Given the description of an element on the screen output the (x, y) to click on. 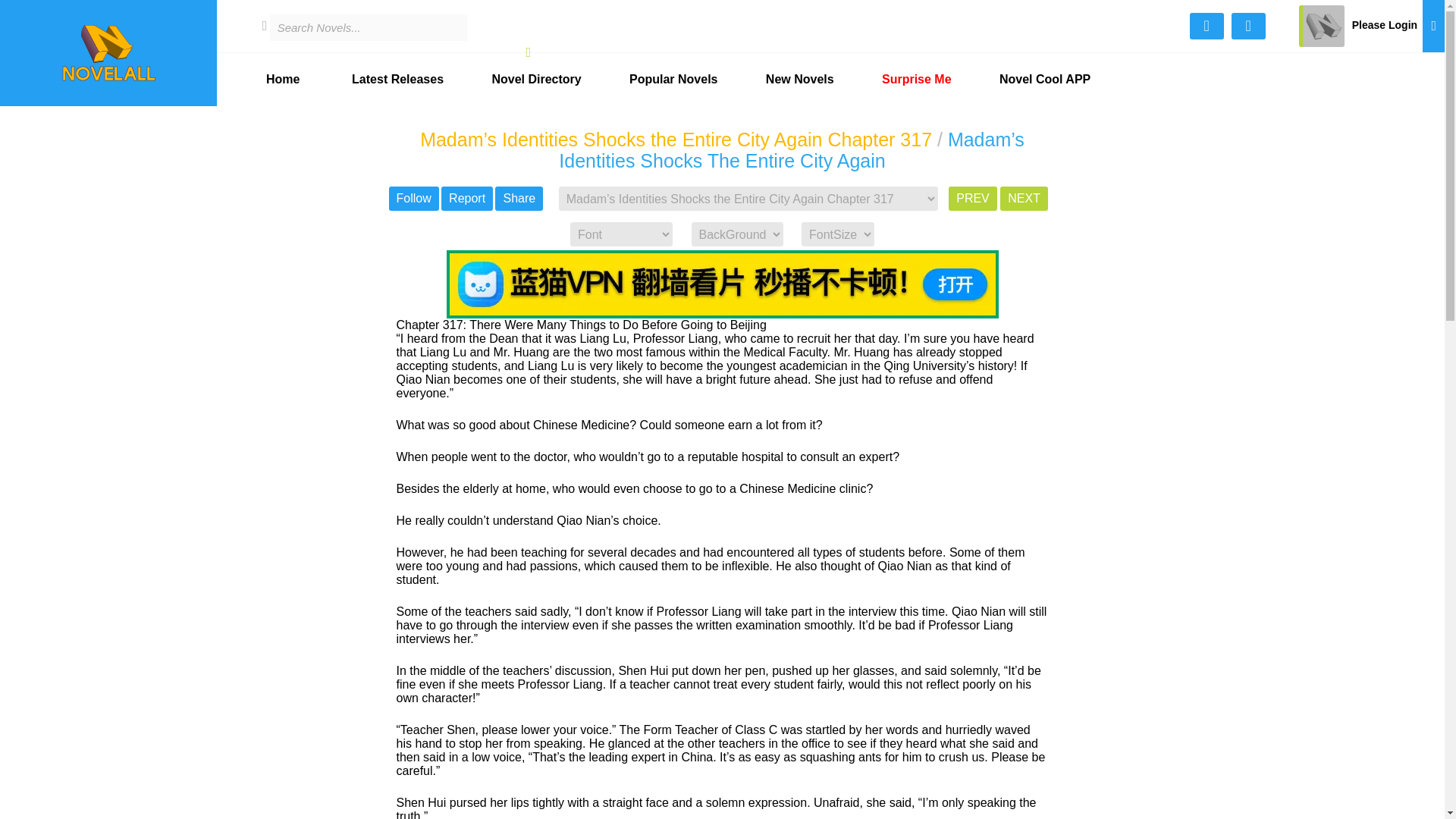
Novel Cool APP (1044, 79)
Novel Cool APP (1044, 79)
Sign Up (1356, 26)
Login (1356, 3)
Advanced Search (1206, 26)
Random elite Novel (916, 79)
Surprise Me (916, 79)
NEXT (1024, 198)
New Novels (799, 79)
Home (283, 79)
